Given the description of an element on the screen output the (x, y) to click on. 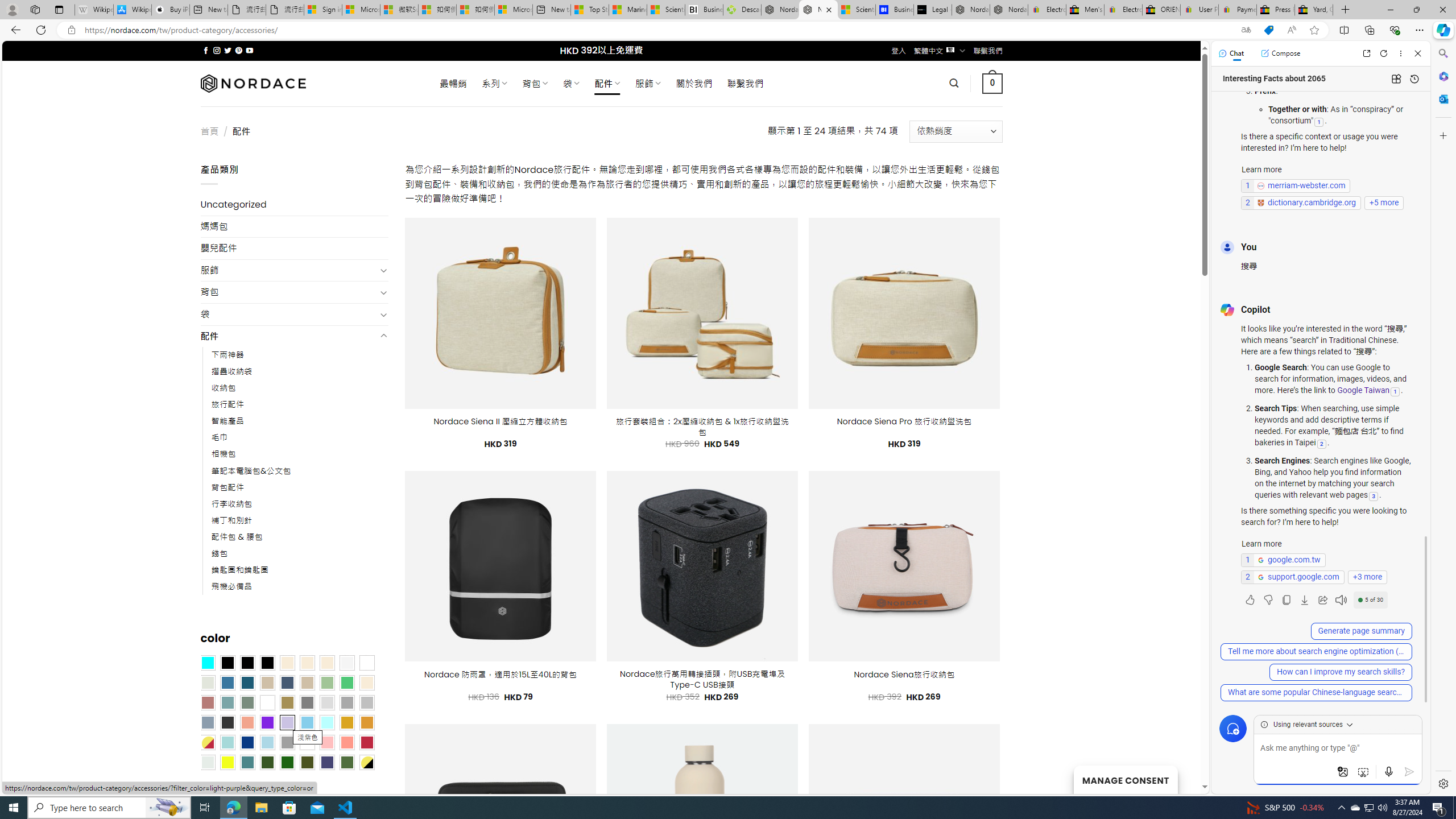
Press Room - eBay Inc. (1276, 9)
This site has coupons! Shopping in Microsoft Edge (1268, 29)
  0   (992, 83)
Compose (1280, 52)
Yard, Garden & Outdoor Living (1314, 9)
